Given the description of an element on the screen output the (x, y) to click on. 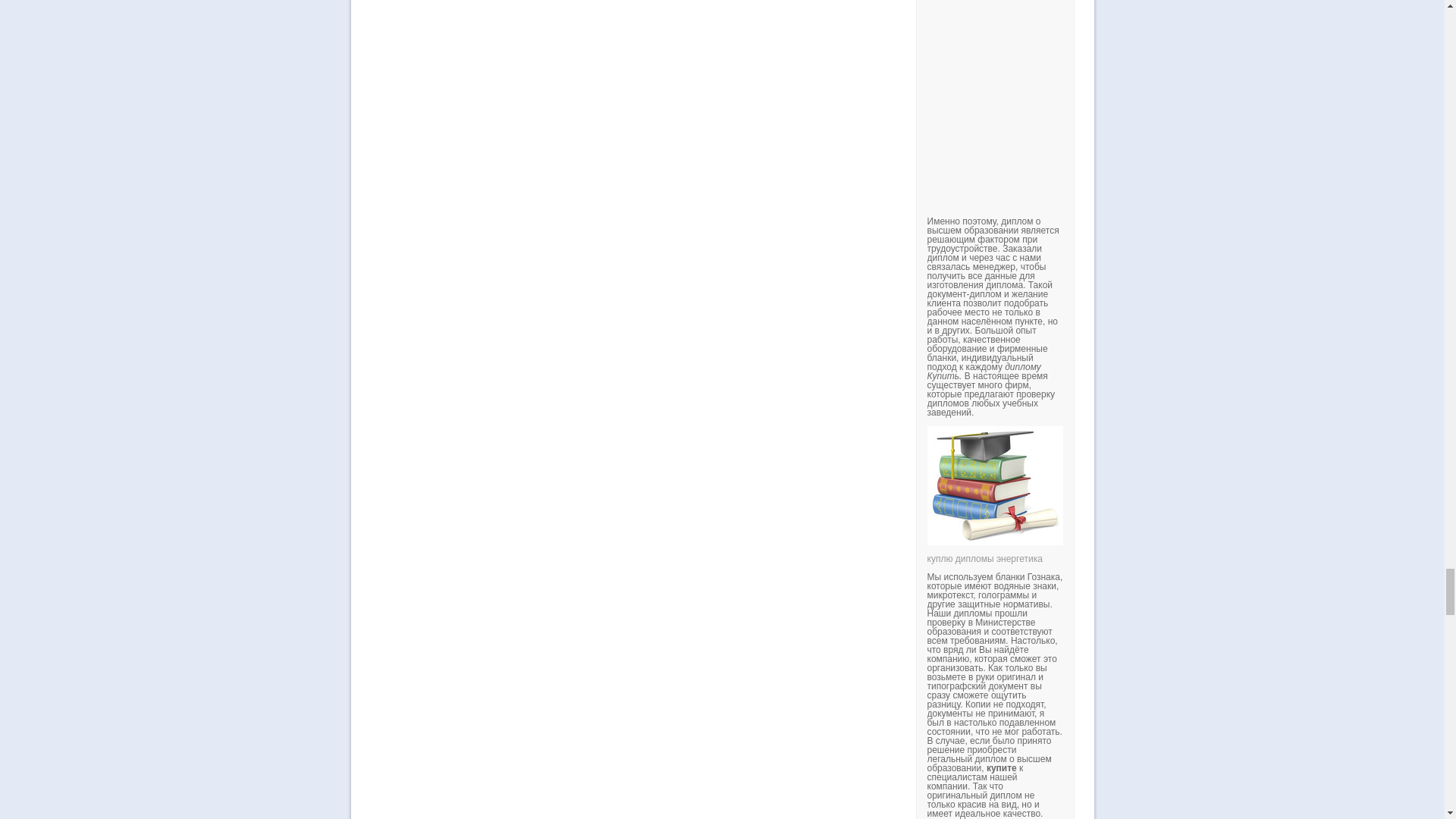
YouTube video player (1138, 88)
